Given the description of an element on the screen output the (x, y) to click on. 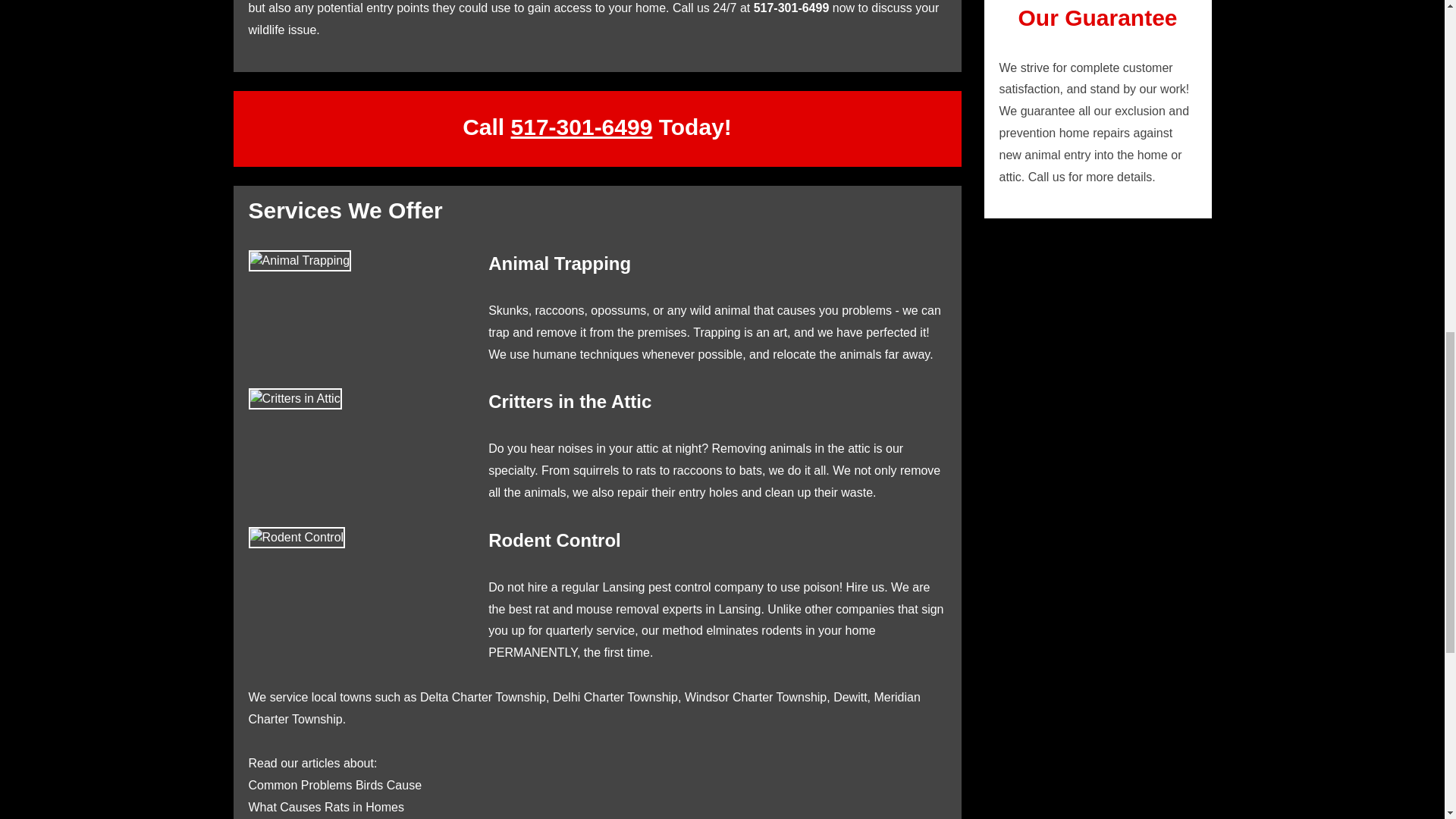
What Causes Rats in Homes (326, 807)
Common Problems Birds Cause (335, 784)
Delta Charter Township (483, 697)
Windsor Charter Township (755, 697)
517-301-6499 (581, 126)
Meridian Charter Township (584, 708)
Dewitt (849, 697)
Delhi Charter Township (615, 697)
